Given the description of an element on the screen output the (x, y) to click on. 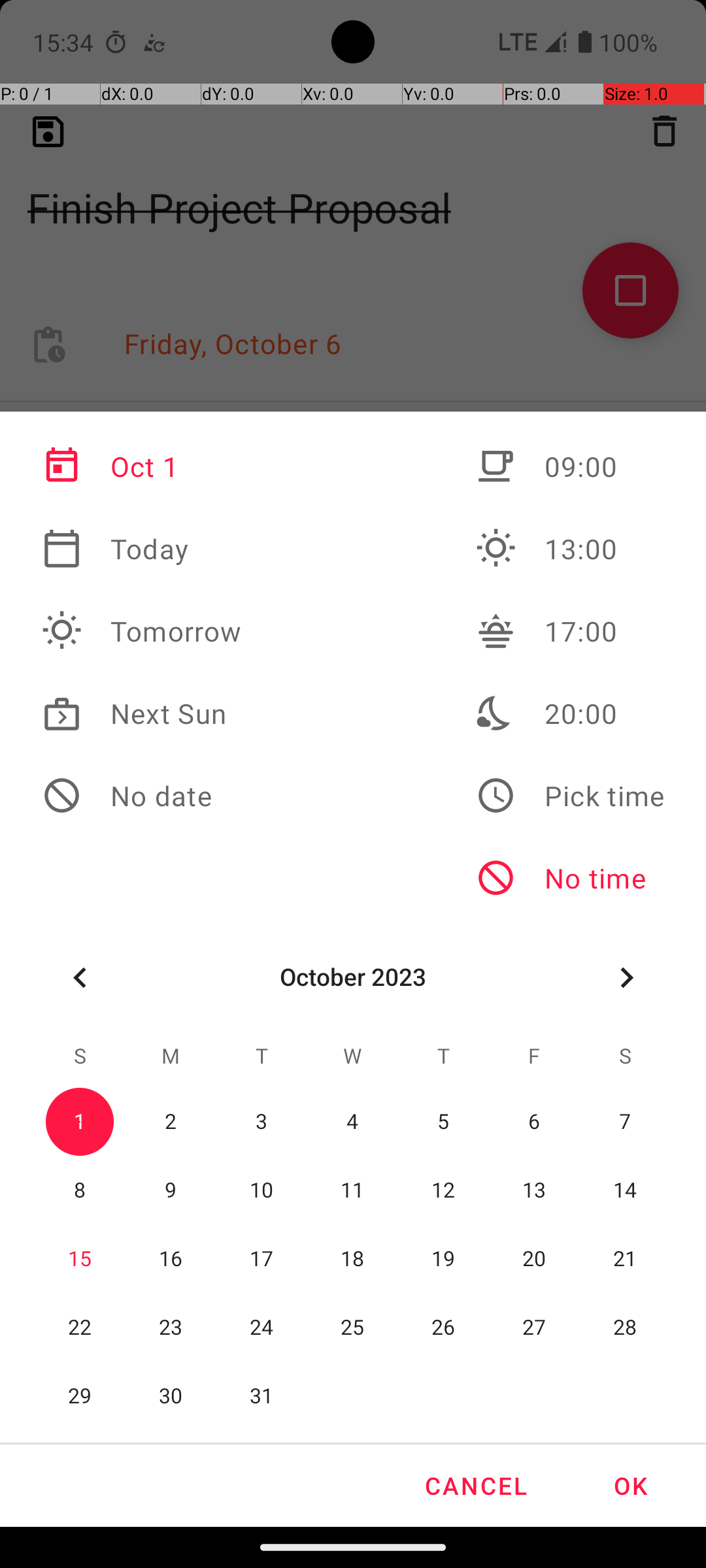
Oct 1 Element type: android.widget.CompoundButton (141, 466)
